Given the description of an element on the screen output the (x, y) to click on. 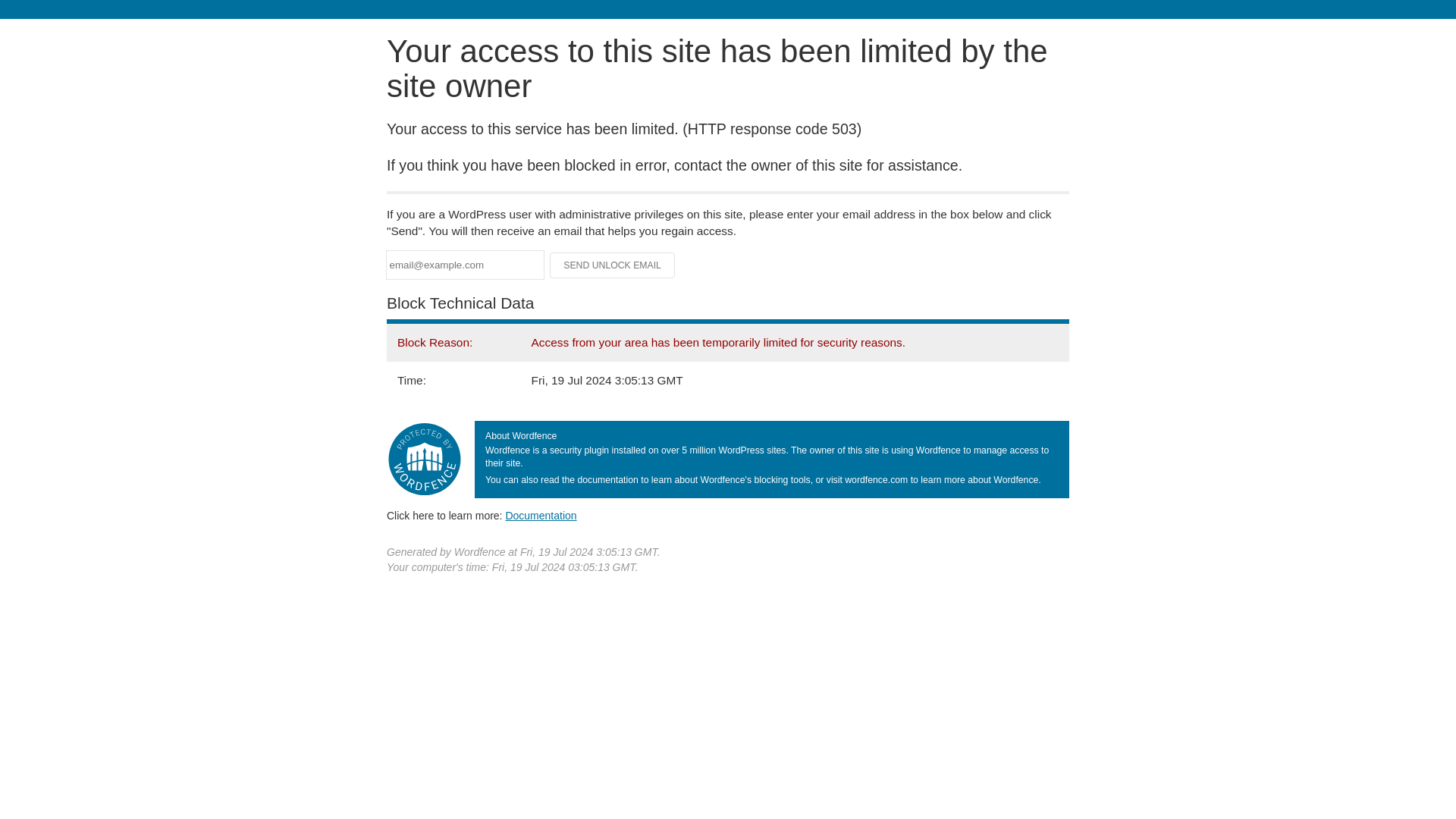
Documentation (540, 515)
Send Unlock Email (612, 265)
Send Unlock Email (612, 265)
